Given the description of an element on the screen output the (x, y) to click on. 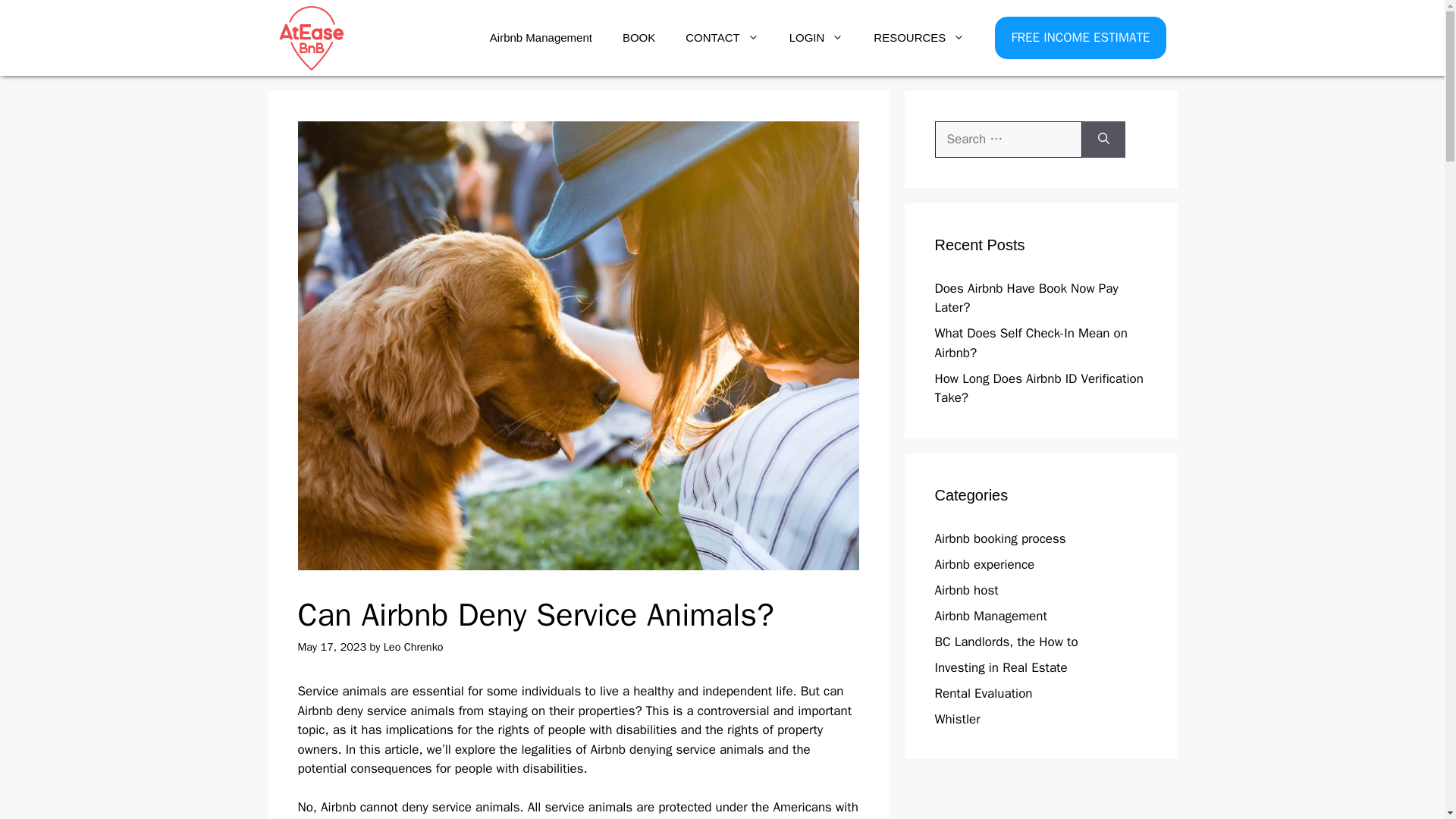
BOOK (638, 38)
Leo Chrenko (414, 646)
Search for: (1007, 139)
FREE INCOME ESTIMATE (1080, 37)
View all posts by Leo Chrenko (414, 646)
RESOURCES (919, 38)
LOGIN (816, 38)
CONTACT (721, 38)
Airbnb Management (540, 38)
